Given the description of an element on the screen output the (x, y) to click on. 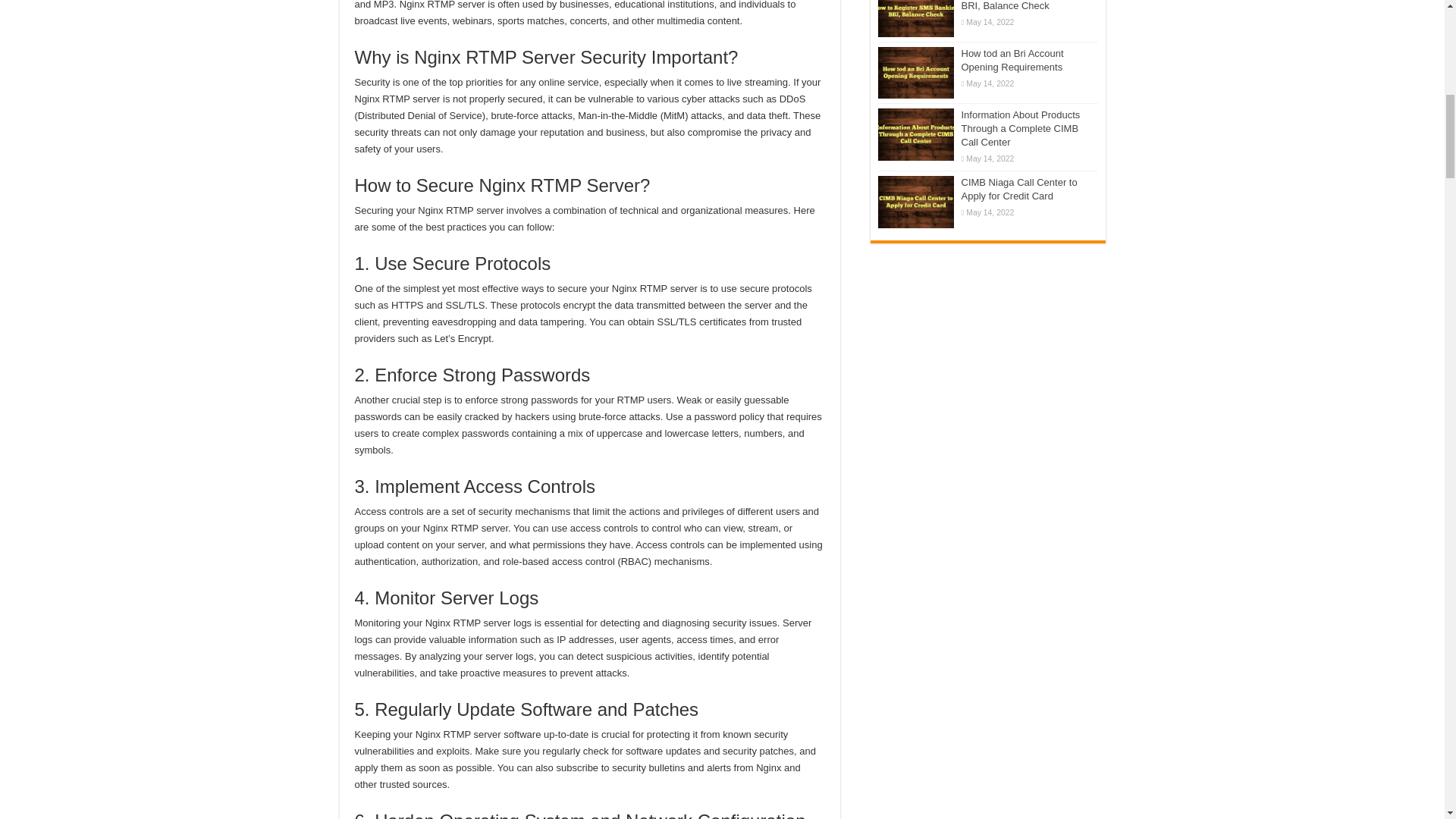
How tod an Bri Account Opening Requirements (915, 72)
CIMB Niaga Call Center to Apply for Credit Card (915, 201)
Advertisement (987, 345)
How to Register SMS Banking BRI, Balance Check (915, 18)
